Given the description of an element on the screen output the (x, y) to click on. 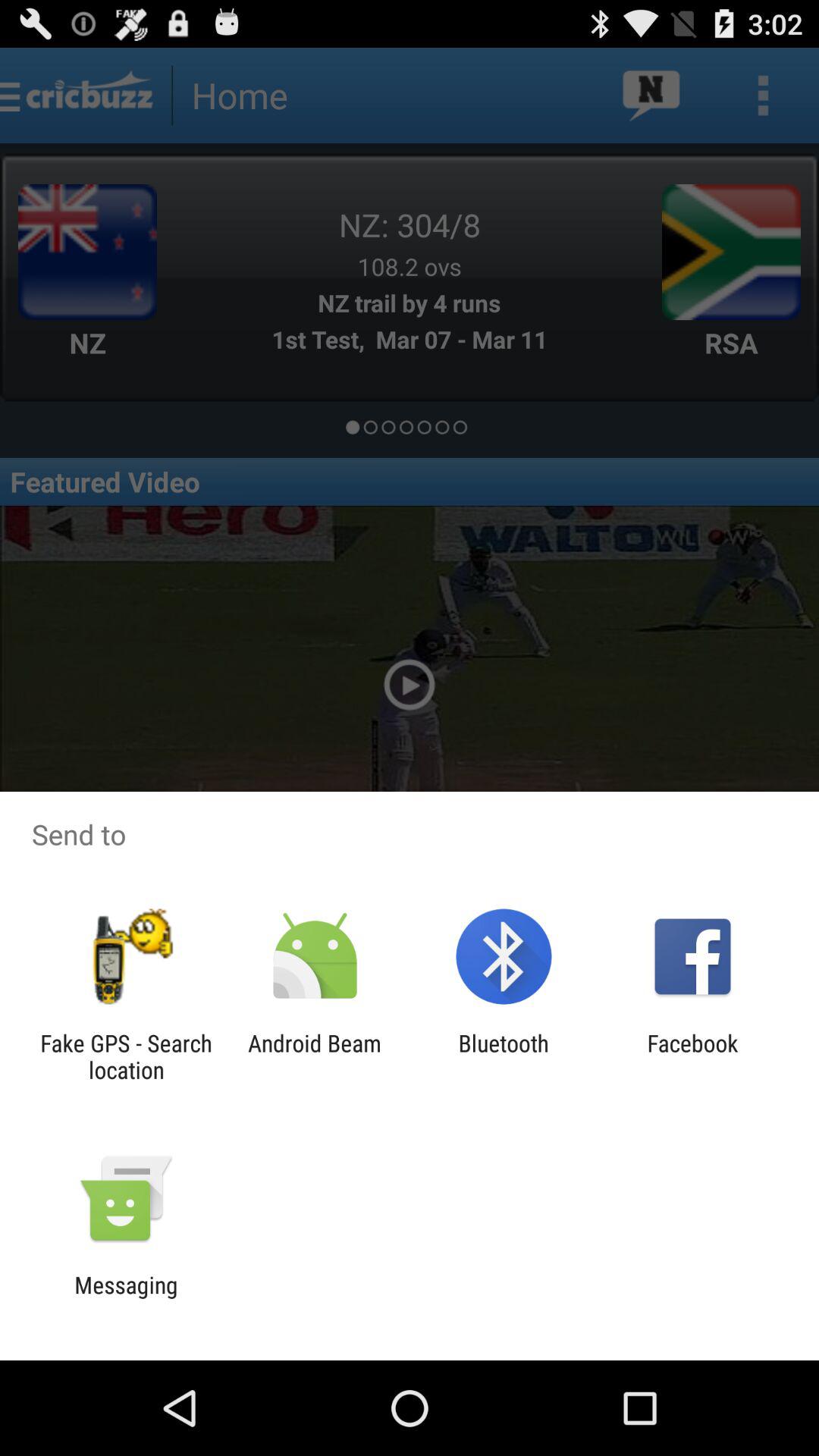
choose item next to the bluetooth icon (692, 1056)
